Given the description of an element on the screen output the (x, y) to click on. 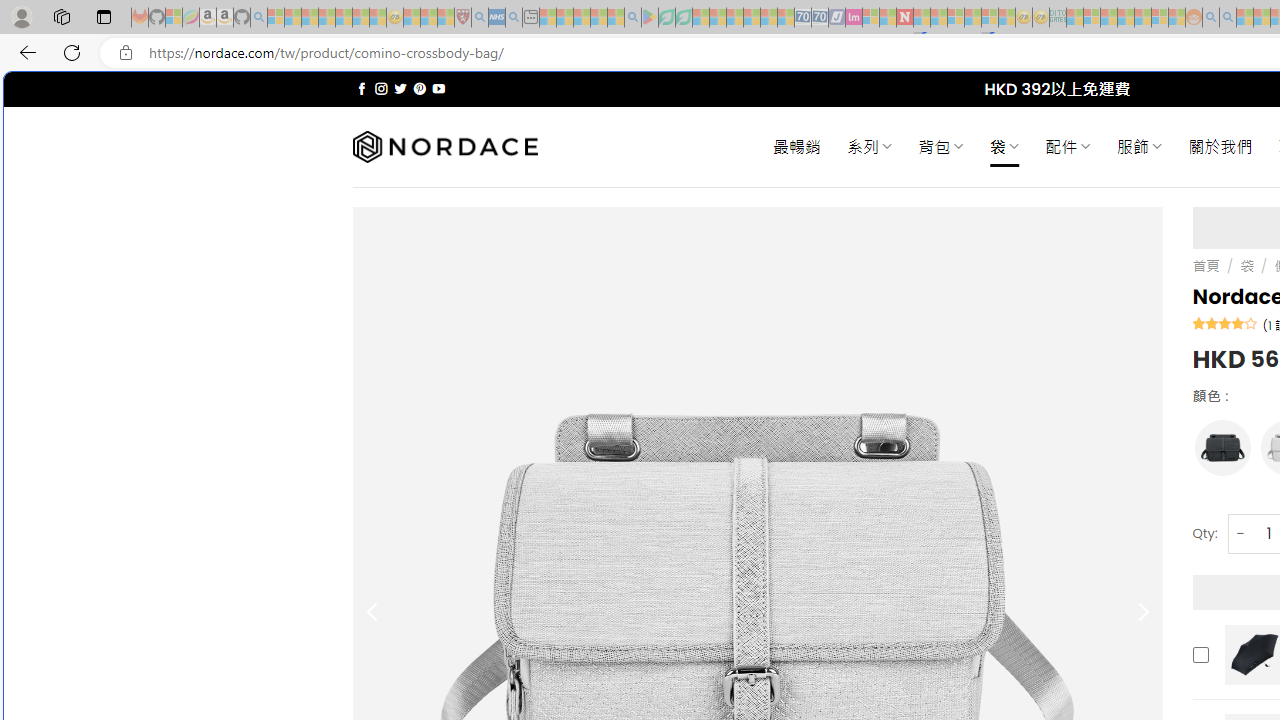
Follow on Instagram (381, 88)
